Given the description of an element on the screen output the (x, y) to click on. 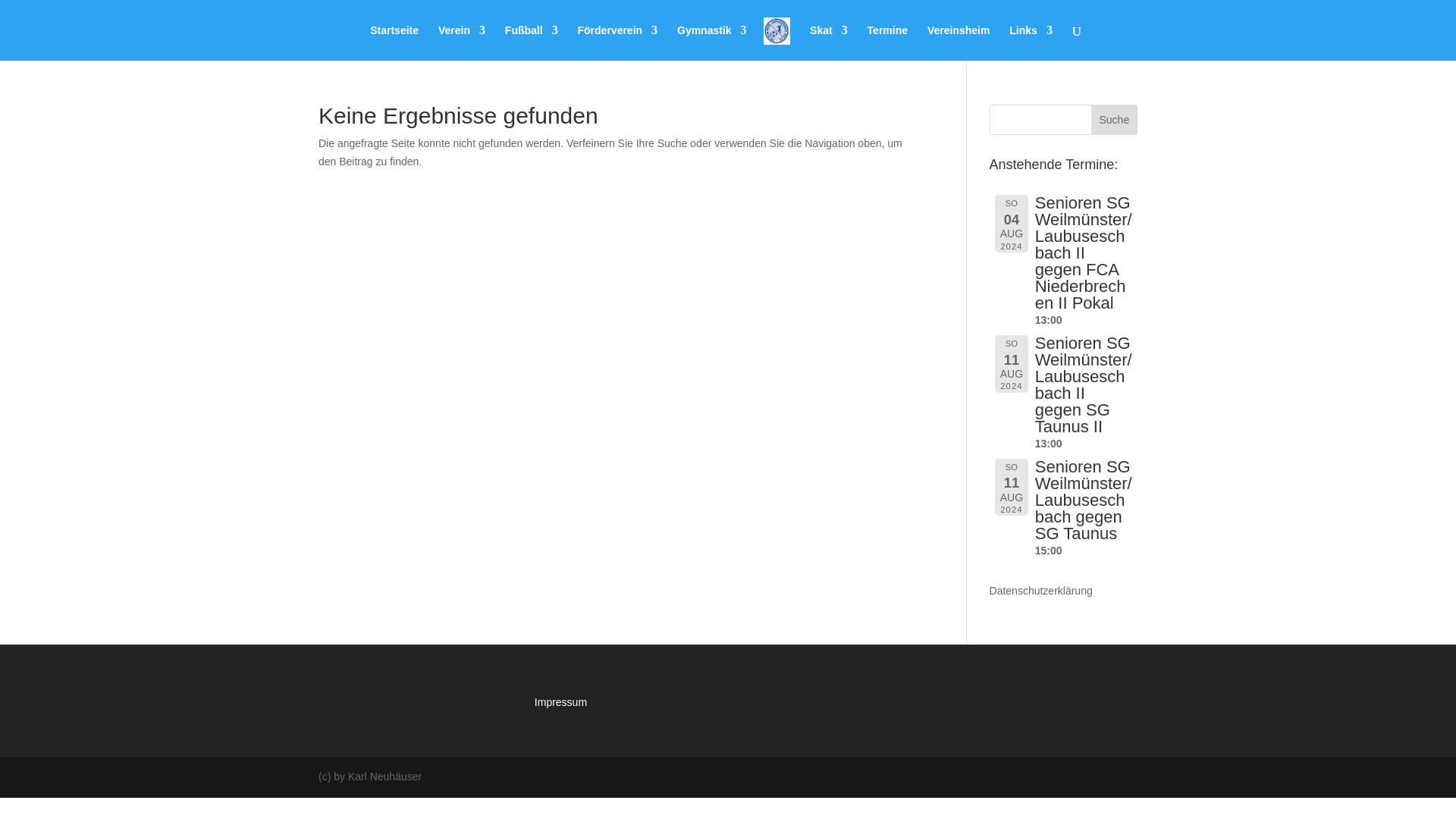
Verein (461, 42)
Startseite (394, 42)
Suche (1113, 119)
